Given the description of an element on the screen output the (x, y) to click on. 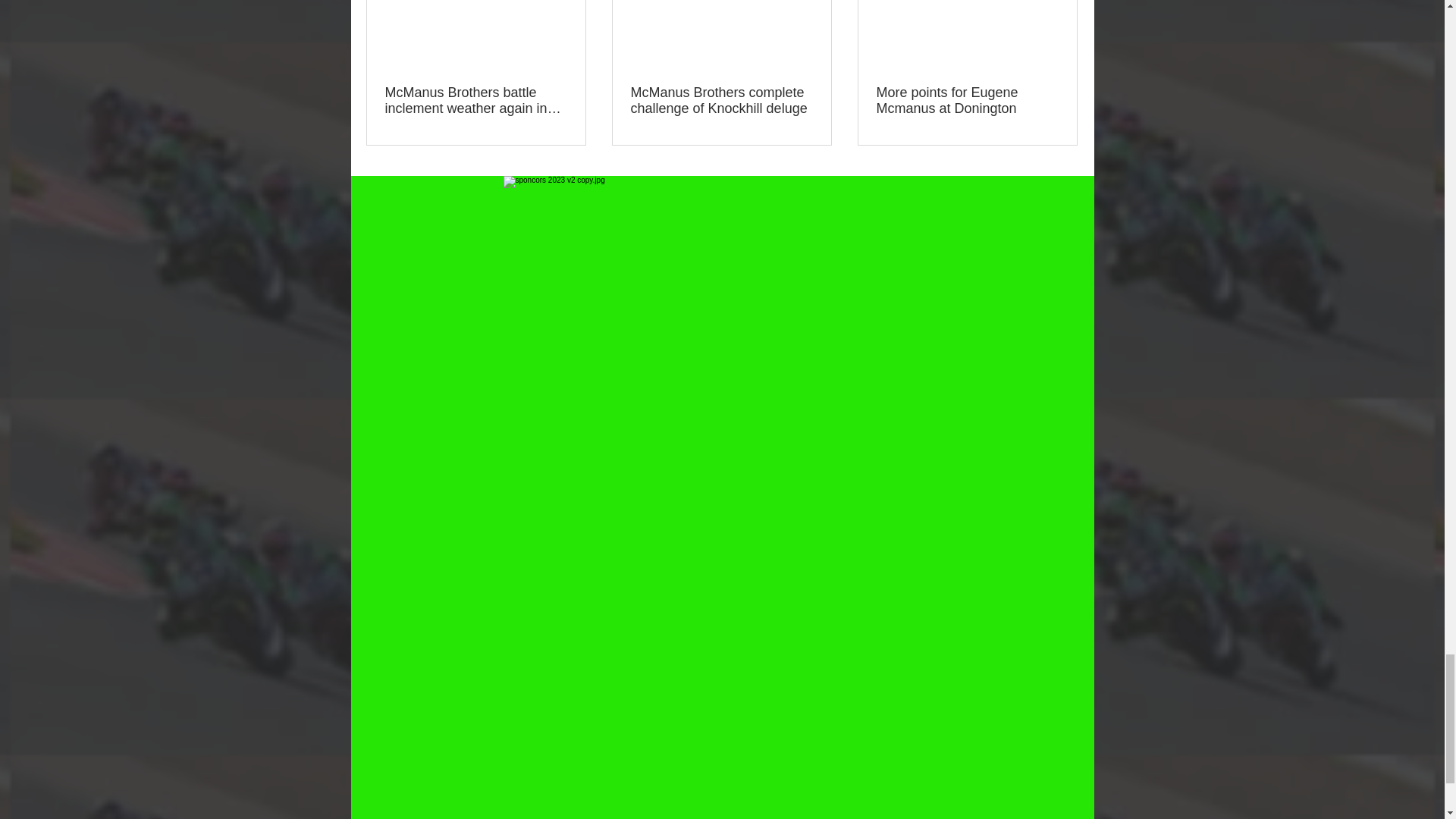
McManus Brothers complete challenge of Knockhill deluge (721, 101)
More points for Eugene Mcmanus at Donington (967, 101)
